Given the description of an element on the screen output the (x, y) to click on. 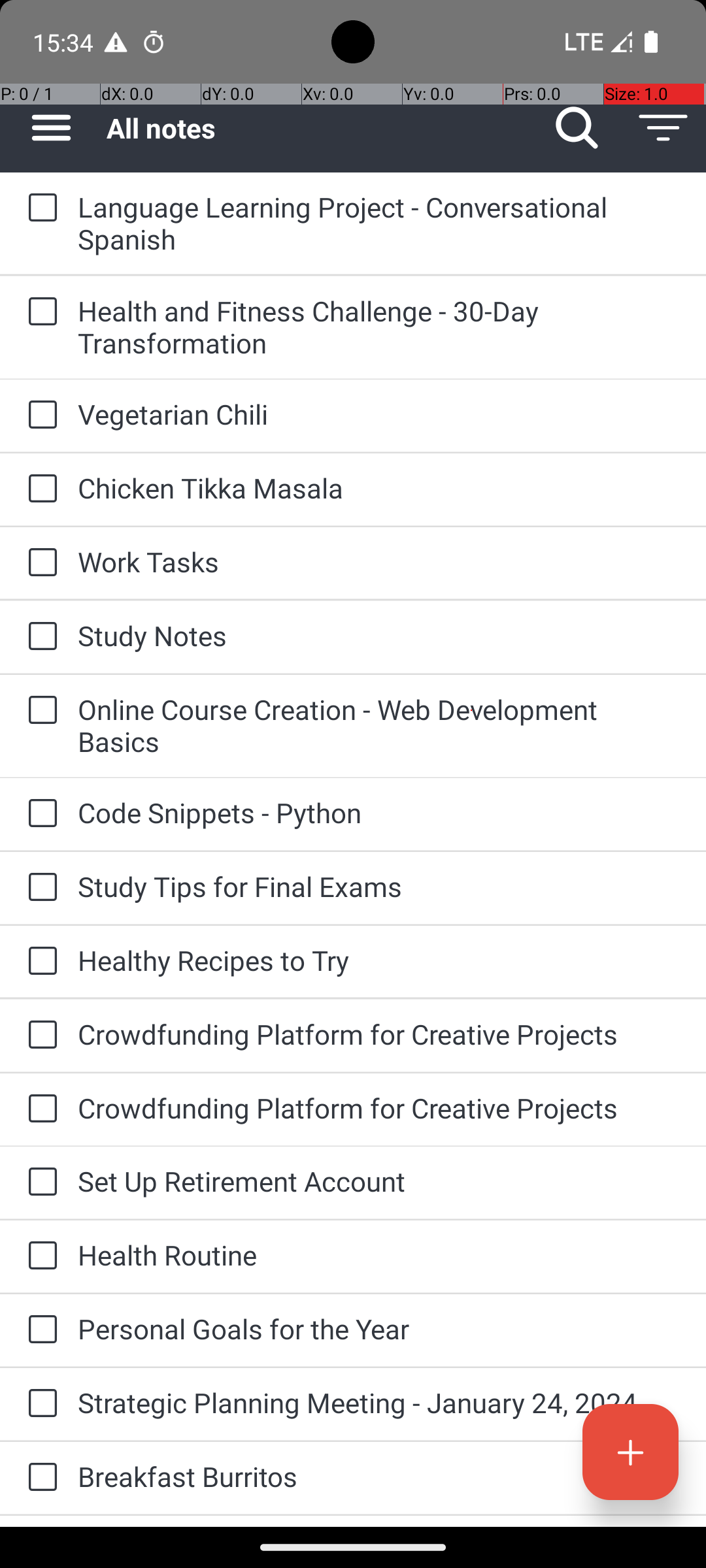
to-do: Language Learning Project - Conversational Spanish Element type: android.widget.CheckBox (38, 208)
Language Learning Project - Conversational Spanish Element type: android.widget.TextView (378, 222)
to-do: Health and Fitness Challenge - 30-Day Transformation Element type: android.widget.CheckBox (38, 312)
Health and Fitness Challenge - 30-Day Transformation Element type: android.widget.TextView (378, 326)
to-do: Vegetarian Chili Element type: android.widget.CheckBox (38, 415)
Vegetarian Chili Element type: android.widget.TextView (378, 413)
to-do: Chicken Tikka Masala Element type: android.widget.CheckBox (38, 489)
Chicken Tikka Masala Element type: android.widget.TextView (378, 487)
to-do: Work Tasks Element type: android.widget.CheckBox (38, 563)
Work Tasks Element type: android.widget.TextView (378, 561)
to-do: Study Notes Element type: android.widget.CheckBox (38, 637)
Study Notes Element type: android.widget.TextView (378, 634)
to-do: Online Course Creation - Web Development Basics Element type: android.widget.CheckBox (38, 710)
Online Course Creation - Web Development Basics Element type: android.widget.TextView (378, 724)
to-do: Study Tips for Final Exams Element type: android.widget.CheckBox (38, 887)
Study Tips for Final Exams Element type: android.widget.TextView (378, 885)
to-do: Healthy Recipes to Try Element type: android.widget.CheckBox (38, 961)
Healthy Recipes to Try Element type: android.widget.TextView (378, 959)
to-do: Crowdfunding Platform for Creative Projects Element type: android.widget.CheckBox (38, 1035)
Crowdfunding Platform for Creative Projects Element type: android.widget.TextView (378, 1033)
to-do: Set Up Retirement Account Element type: android.widget.CheckBox (38, 1182)
Set Up Retirement Account Element type: android.widget.TextView (378, 1180)
to-do: Health Routine Element type: android.widget.CheckBox (38, 1256)
Health Routine Element type: android.widget.TextView (378, 1254)
to-do: Personal Goals for the Year Element type: android.widget.CheckBox (38, 1330)
Personal Goals for the Year Element type: android.widget.TextView (378, 1328)
to-do: Strategic Planning Meeting - January 24, 2024 Element type: android.widget.CheckBox (38, 1403)
Strategic Planning Meeting - January 24, 2024 Element type: android.widget.TextView (378, 1402)
to-do: Breakfast Burritos Element type: android.widget.CheckBox (38, 1477)
Breakfast Burritos Element type: android.widget.TextView (378, 1475)
